Given the description of an element on the screen output the (x, y) to click on. 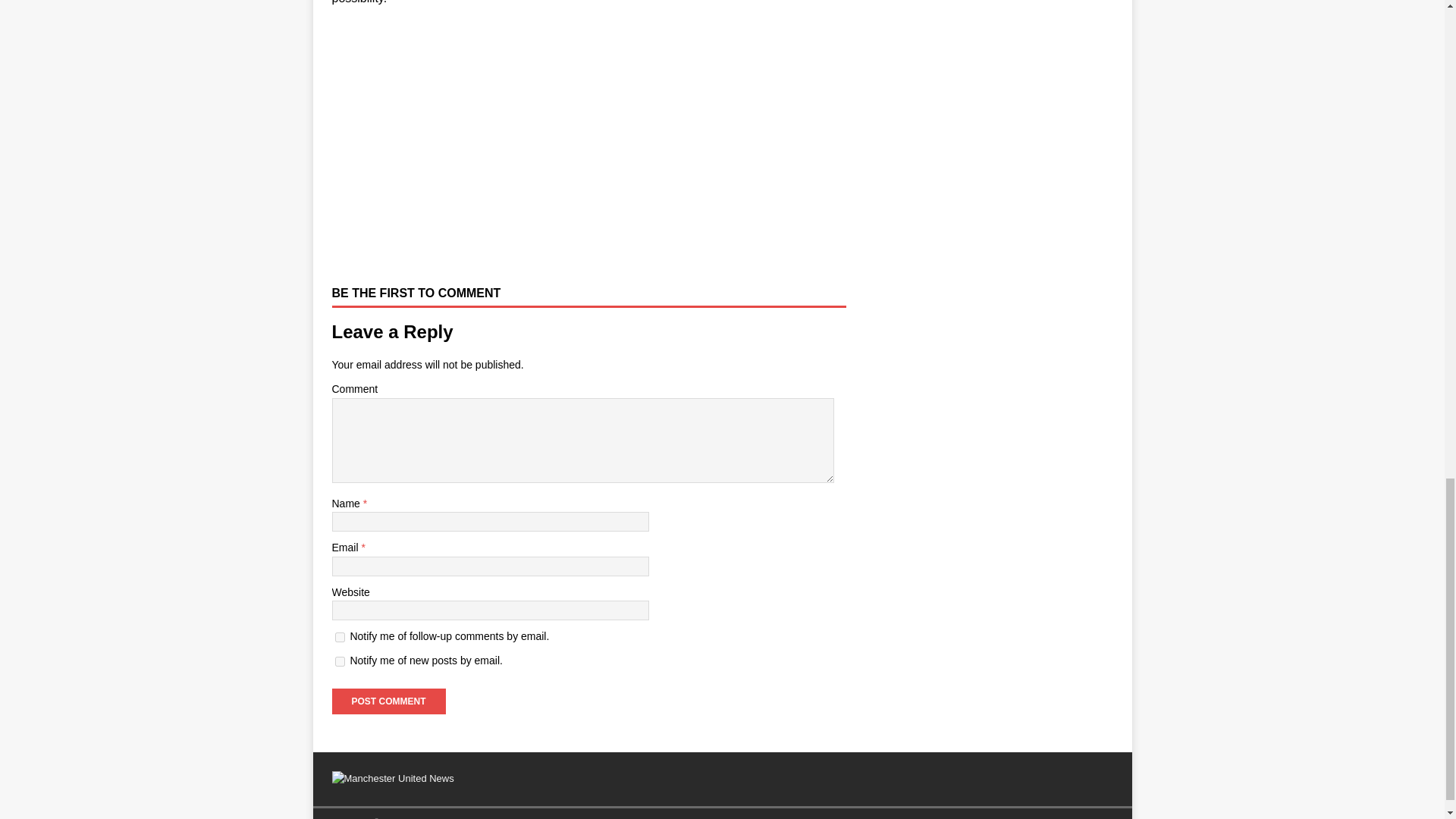
Post Comment (388, 701)
subscribe (339, 637)
Post Comment (388, 701)
Manchester United News (392, 778)
subscribe (339, 661)
